Given the description of an element on the screen output the (x, y) to click on. 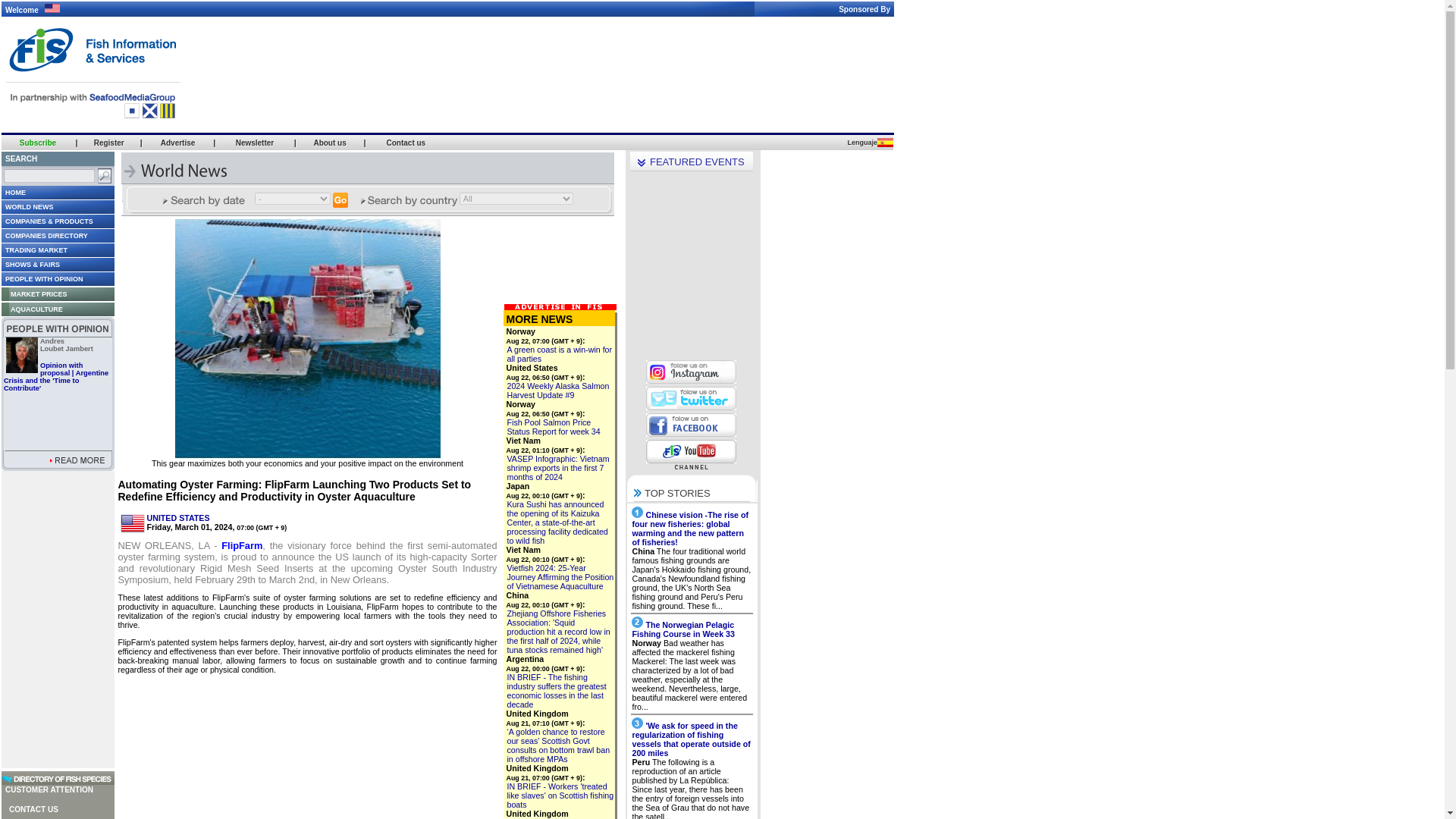
COMPANIES DIRECTORY (44, 234)
MARKET PRICES (33, 293)
HOME (13, 191)
PEOPLE WITH OPINION (41, 277)
AQUACULTURE (31, 307)
Subscribe (38, 142)
